Given the description of an element on the screen output the (x, y) to click on. 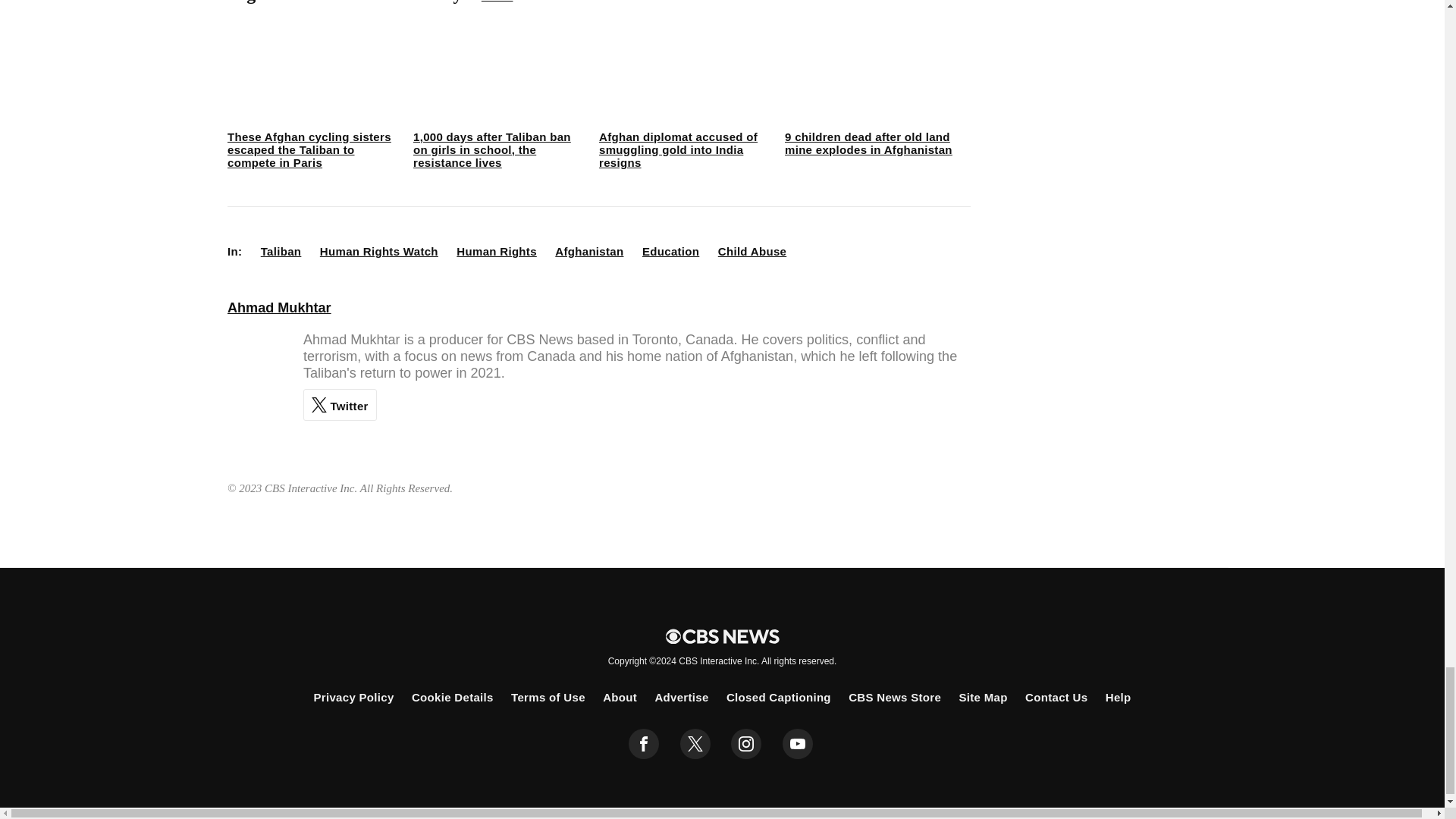
facebook (643, 743)
youtube (797, 743)
twitter (694, 743)
instagram (745, 743)
